Given the description of an element on the screen output the (x, y) to click on. 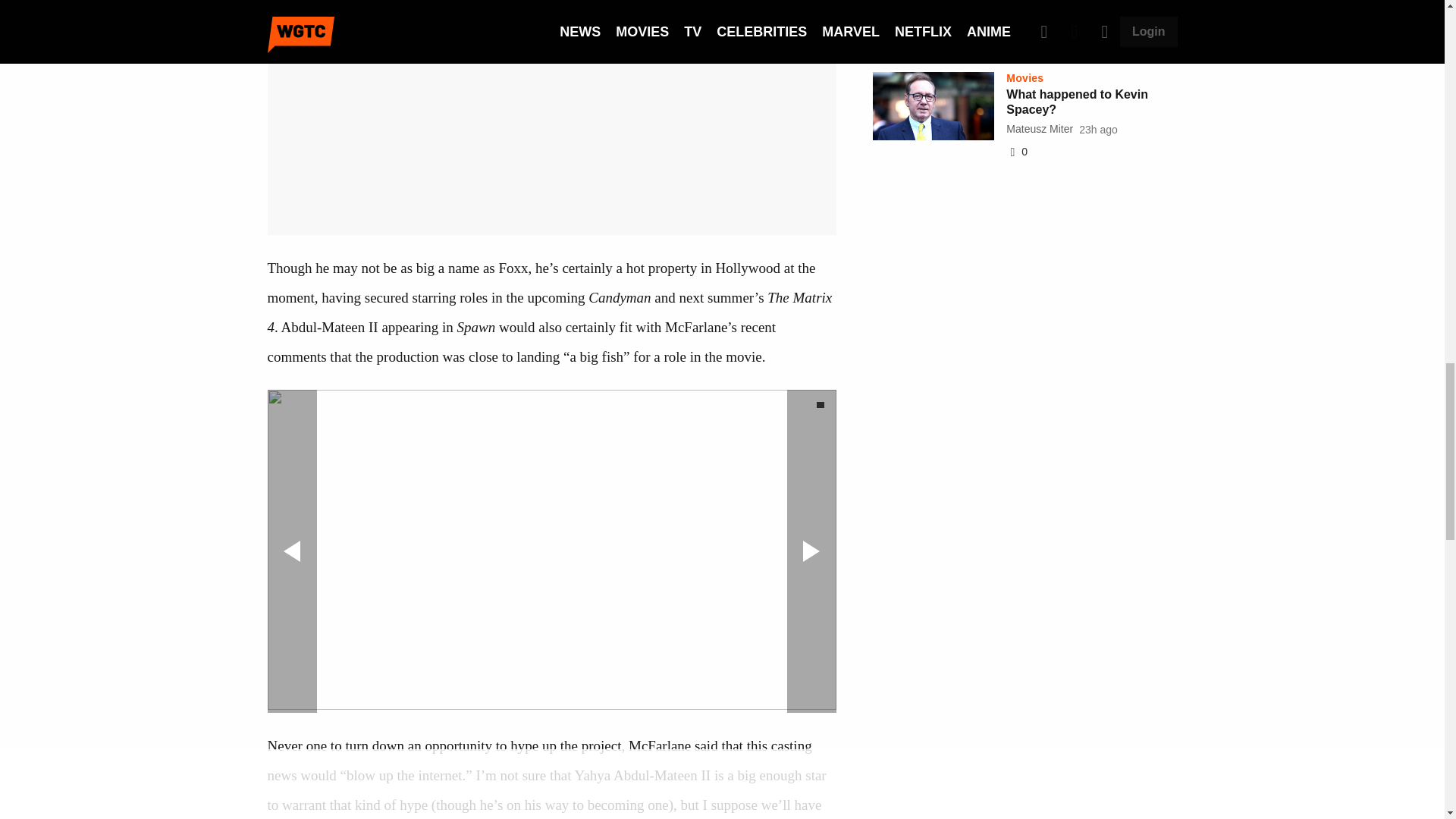
3rd party ad content (1024, 798)
3rd party ad content (1024, 269)
